Given the description of an element on the screen output the (x, y) to click on. 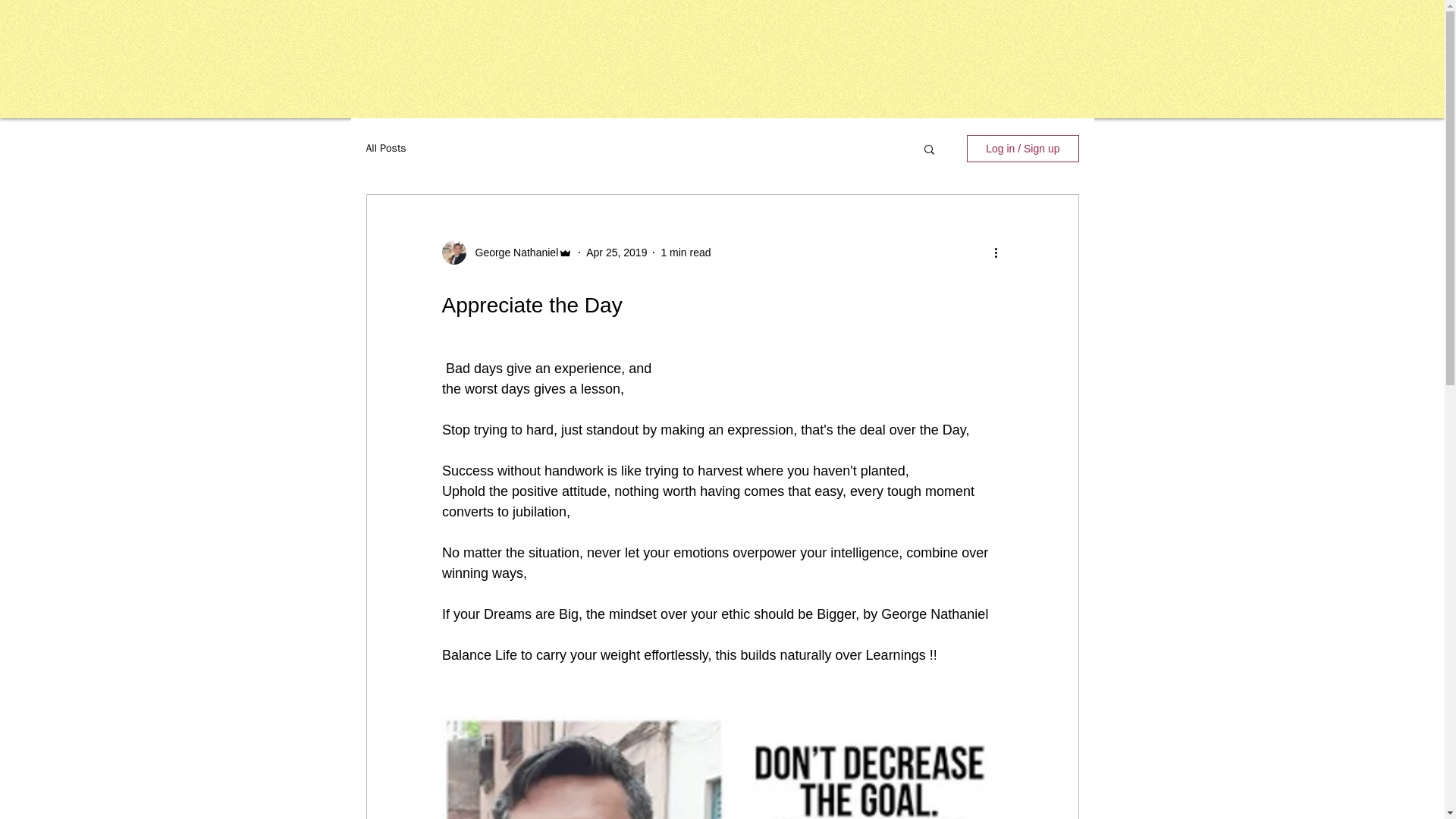
George Nathaniel (511, 252)
1 min read (685, 251)
All Posts (385, 148)
Apr 25, 2019 (616, 251)
